Given the description of an element on the screen output the (x, y) to click on. 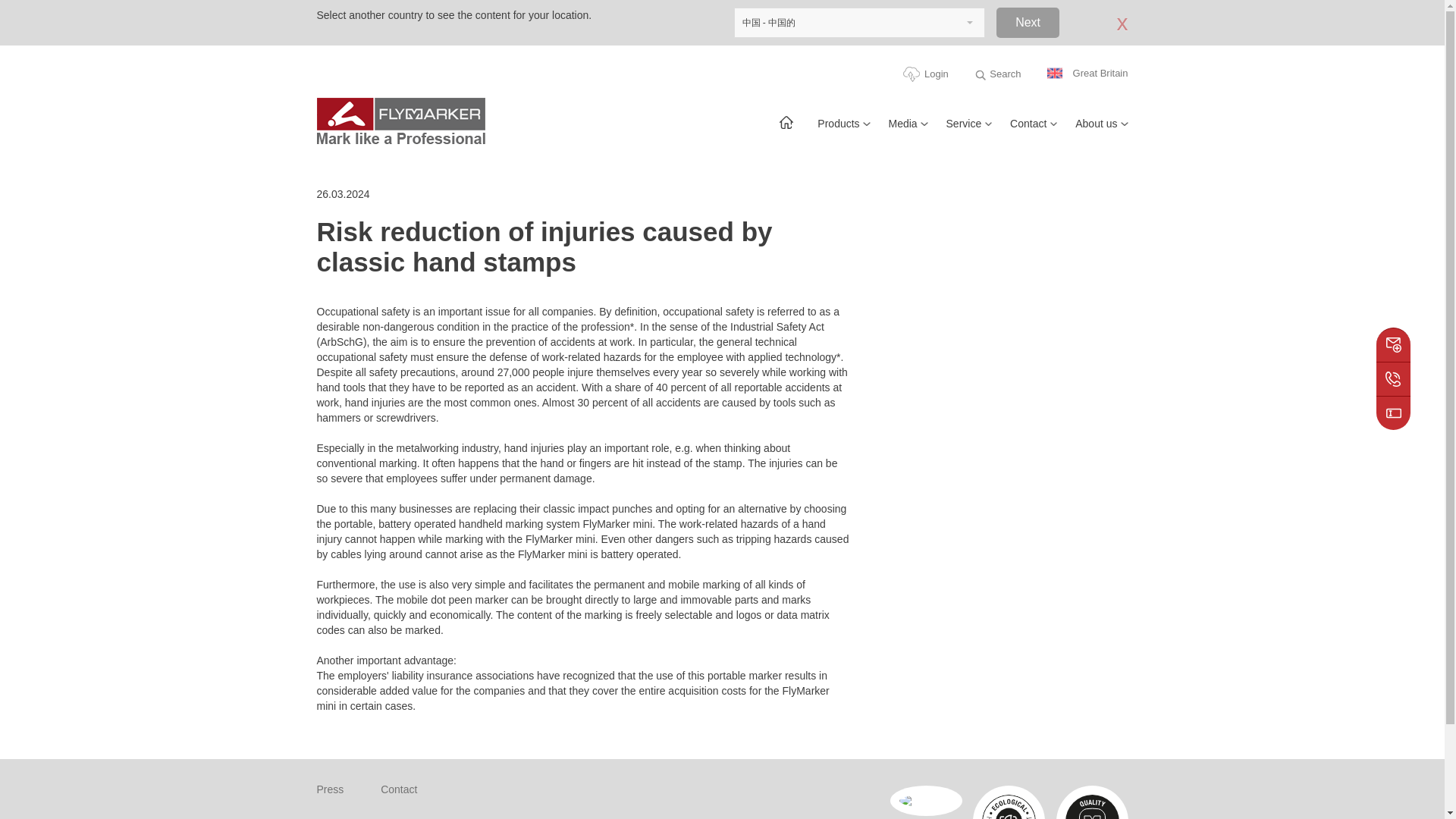
Search (997, 73)
Service (969, 130)
x (1110, 22)
Press (330, 789)
Login (925, 73)
Home (786, 130)
Media (907, 130)
Next (1027, 22)
Products (842, 130)
About us (1100, 130)
